Given the description of an element on the screen output the (x, y) to click on. 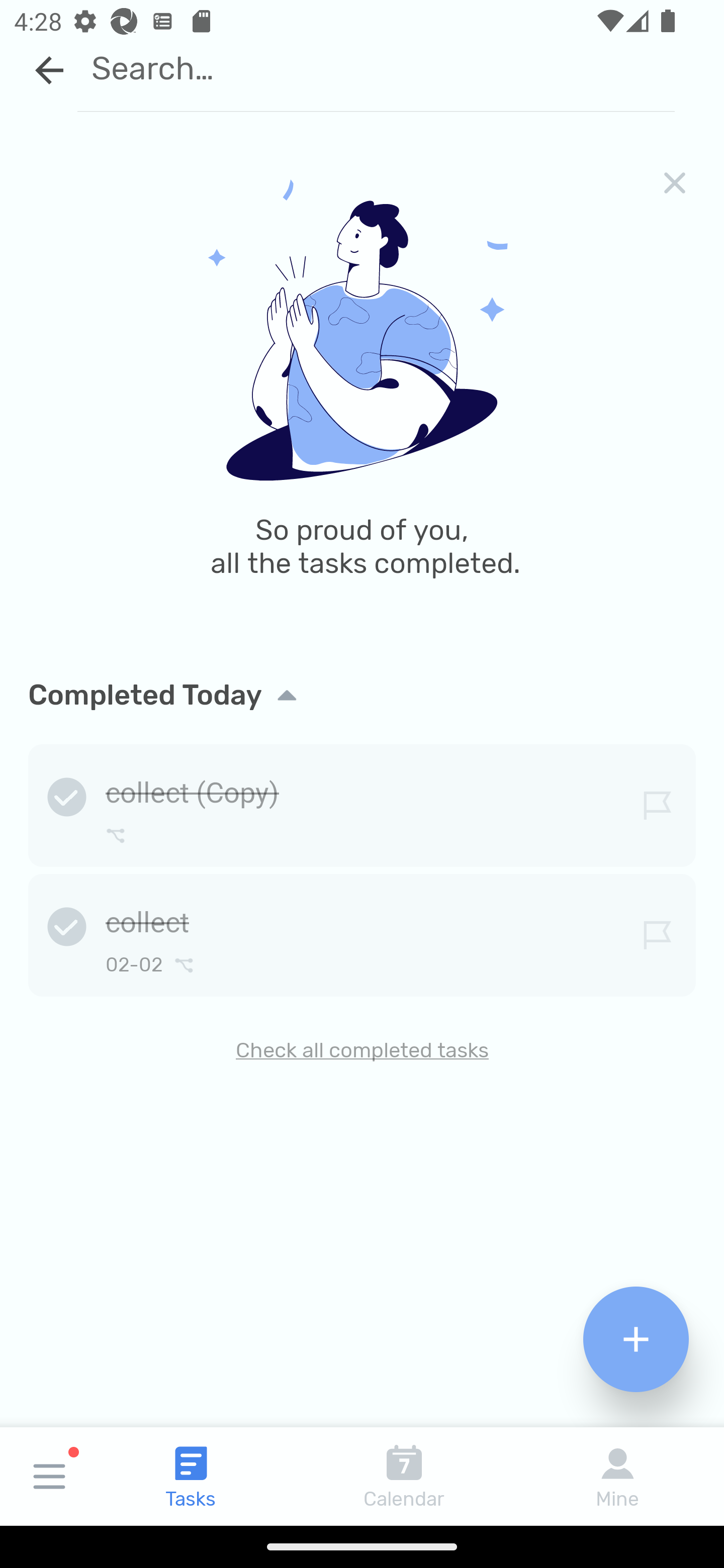
Search… (375, 68)
So proud of you,
 all the tasks completed. (362, 404)
Completed Today (362, 694)
collect (Copy) (362, 801)
collect 02-02 (362, 932)
Check all completed tasks (361, 1050)
Tasks (190, 1475)
Calendar (404, 1475)
Mine (617, 1475)
